Given the description of an element on the screen output the (x, y) to click on. 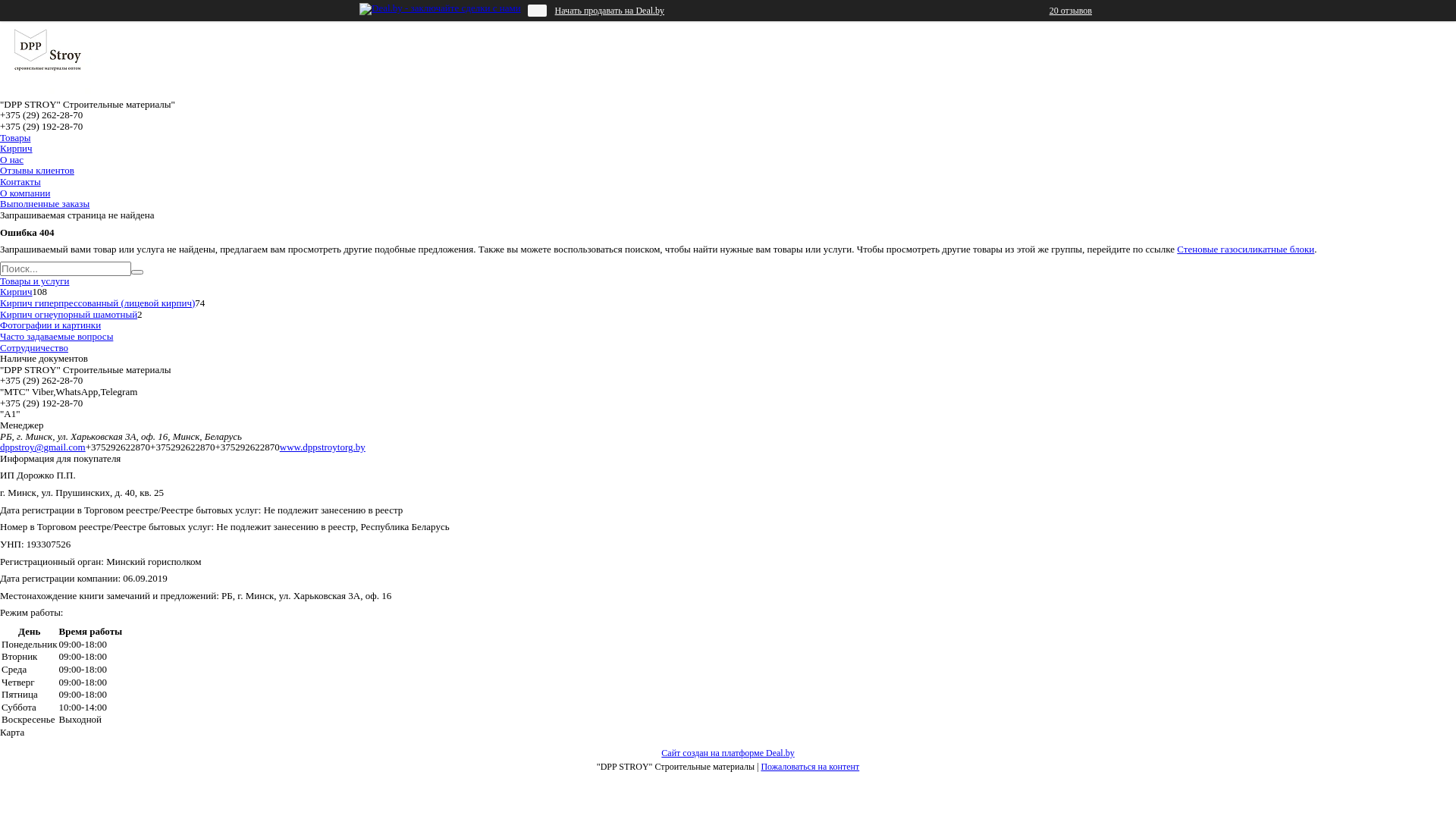
www.dppstroytorg.by Element type: text (322, 446)
dppstroy@gmail.com Element type: text (42, 446)
